Given the description of an element on the screen output the (x, y) to click on. 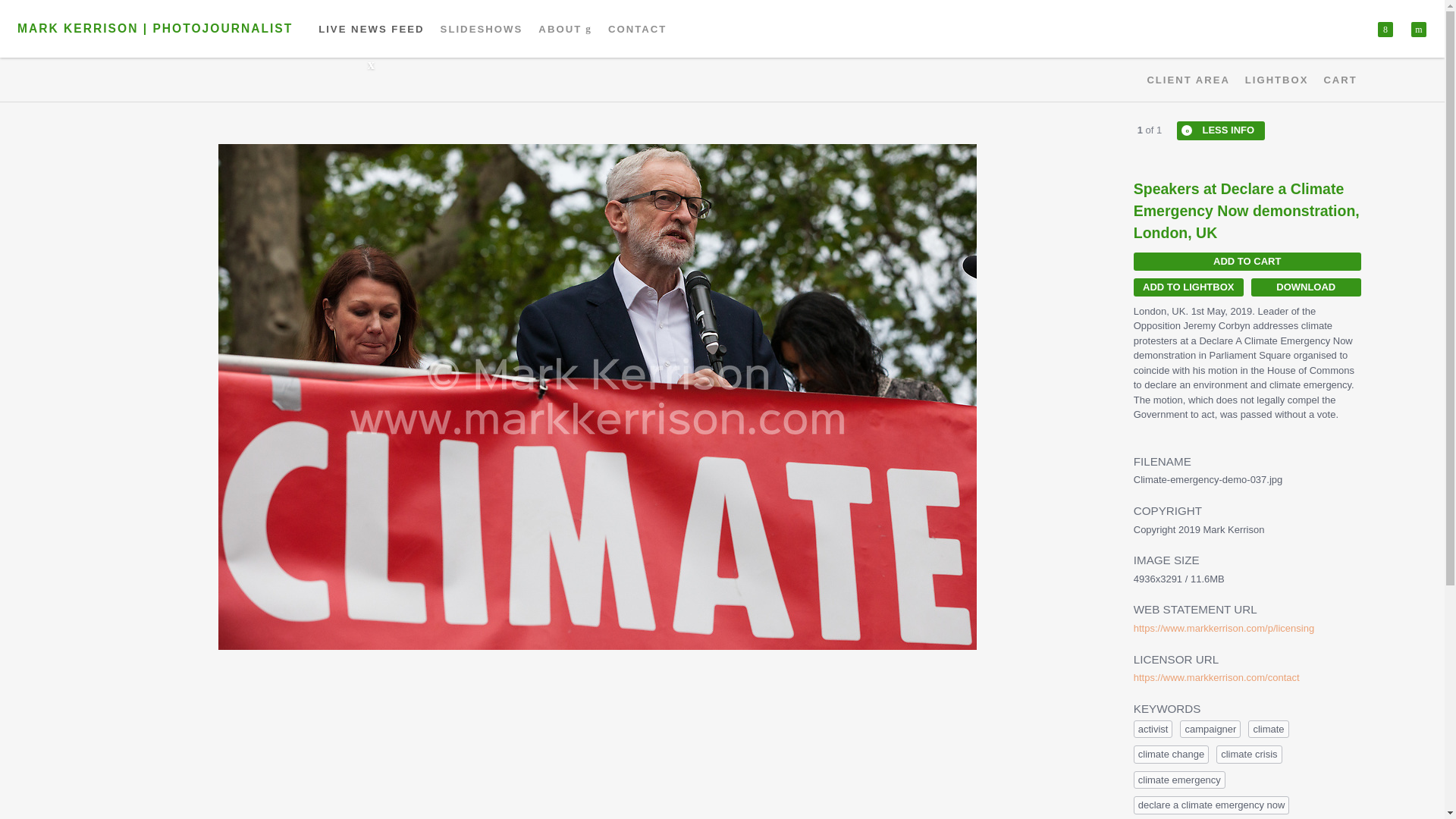
CONTACT (637, 28)
declare a climate emergency now (1212, 805)
x (1385, 29)
climate change (1171, 754)
DOWNLOAD (1305, 286)
campaigner (1209, 729)
activist (1153, 729)
climate crisis (1248, 754)
Share This (1385, 29)
ADD TO LIGHTBOX (1188, 286)
Info (1220, 130)
climate (1267, 729)
climate emergency (1179, 780)
LIVE NEWS FEED (371, 28)
CLIENT AREA (1187, 80)
